Given the description of an element on the screen output the (x, y) to click on. 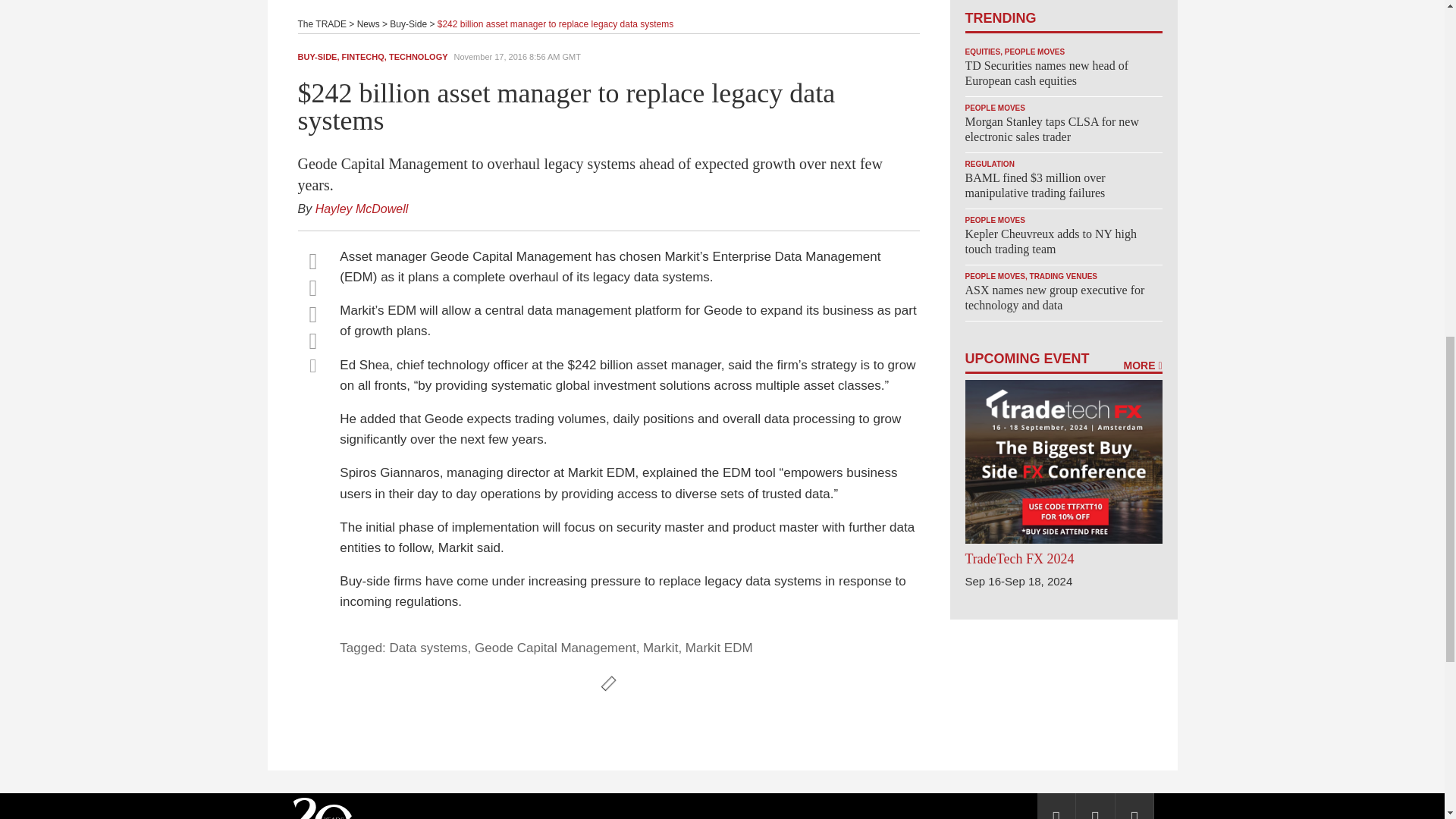
Go to the Buy-Side Category archives. (408, 23)
Go to The TRADE. (321, 23)
Go to the News Category archives. (368, 23)
